Given the description of an element on the screen output the (x, y) to click on. 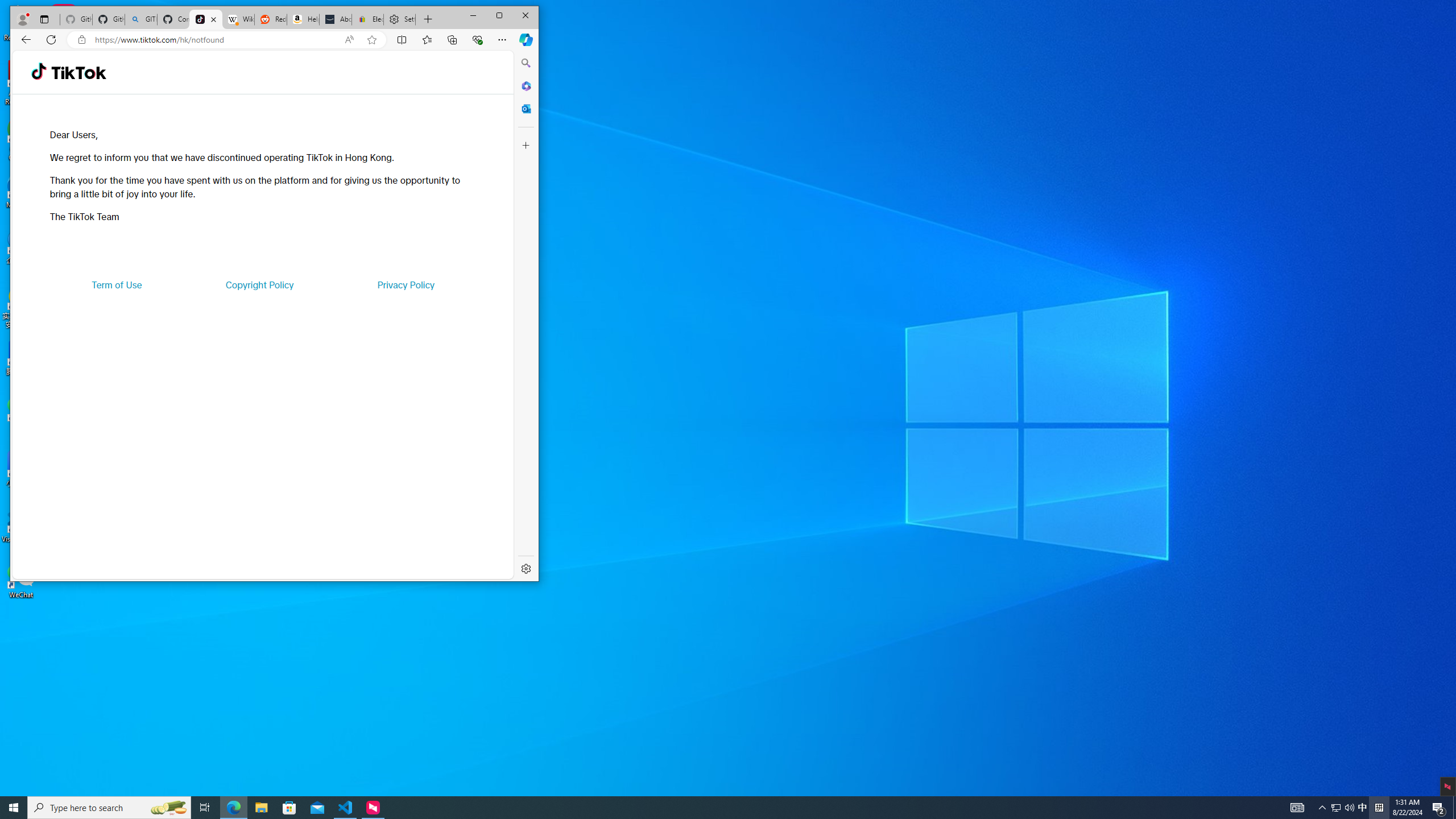
About Amazon (335, 19)
Maximize (499, 15)
Wikipedia, the free encyclopedia (237, 19)
